Given the description of an element on the screen output the (x, y) to click on. 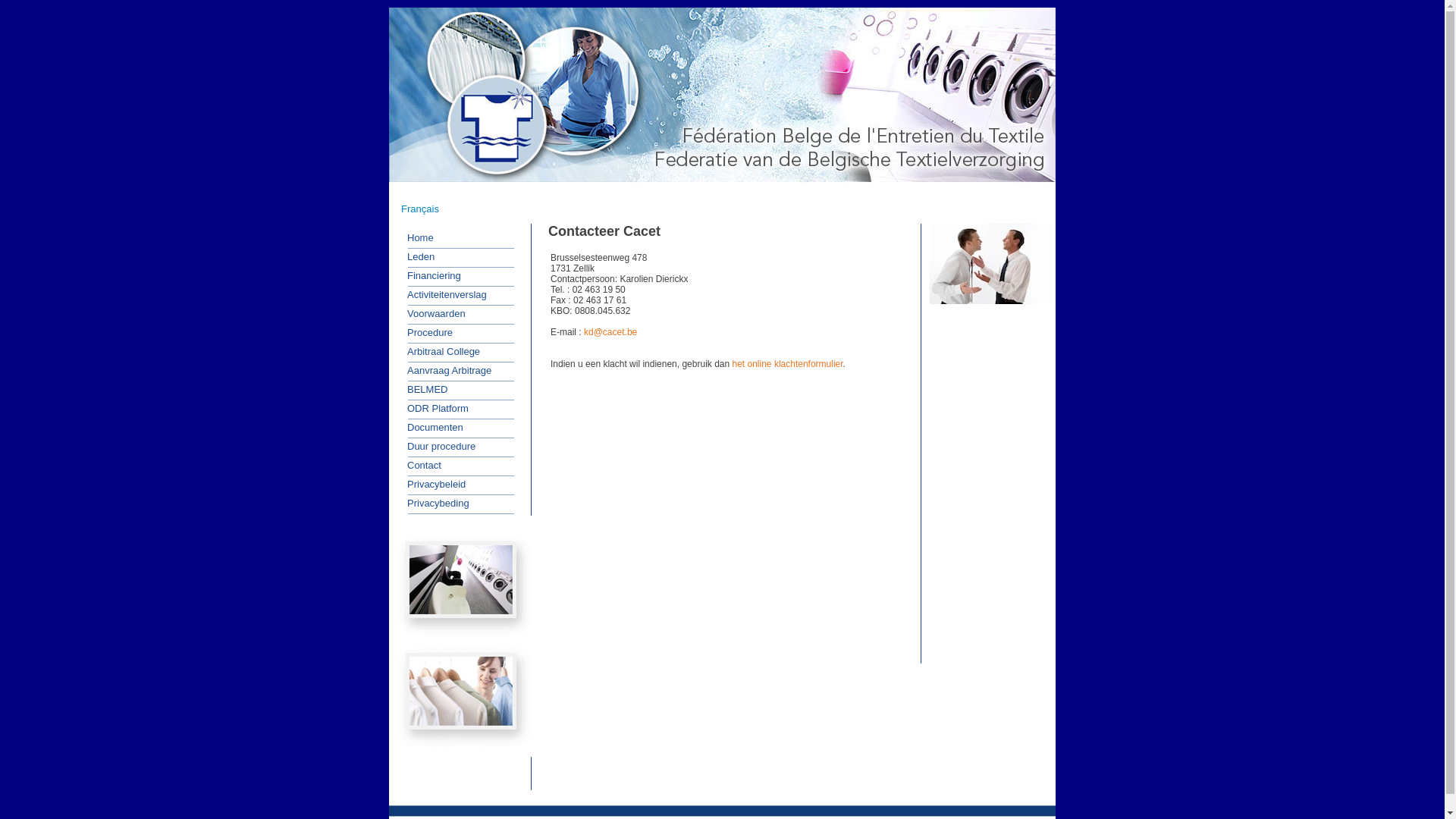
Documenten Element type: text (429, 426)
Privacybeding Element type: text (432, 502)
kd@cacet.be Element type: text (610, 331)
ODR Platform Element type: text (432, 408)
Home Element type: text (414, 237)
Privacybeleid Element type: text (430, 484)
Aanvraag Arbitrage Element type: text (443, 370)
Procedure Element type: text (424, 332)
Duur procedure Element type: text (435, 446)
het online klachtenformulier Element type: text (787, 363)
Financiering Element type: text (428, 274)
Activiteitenverslag Element type: text (441, 294)
Leden Element type: text (415, 256)
Voorwaarden Element type: text (430, 312)
Arbitraal College Element type: text (438, 350)
Contact Element type: text (418, 464)
BELMED Element type: text (421, 388)
